Given the description of an element on the screen output the (x, y) to click on. 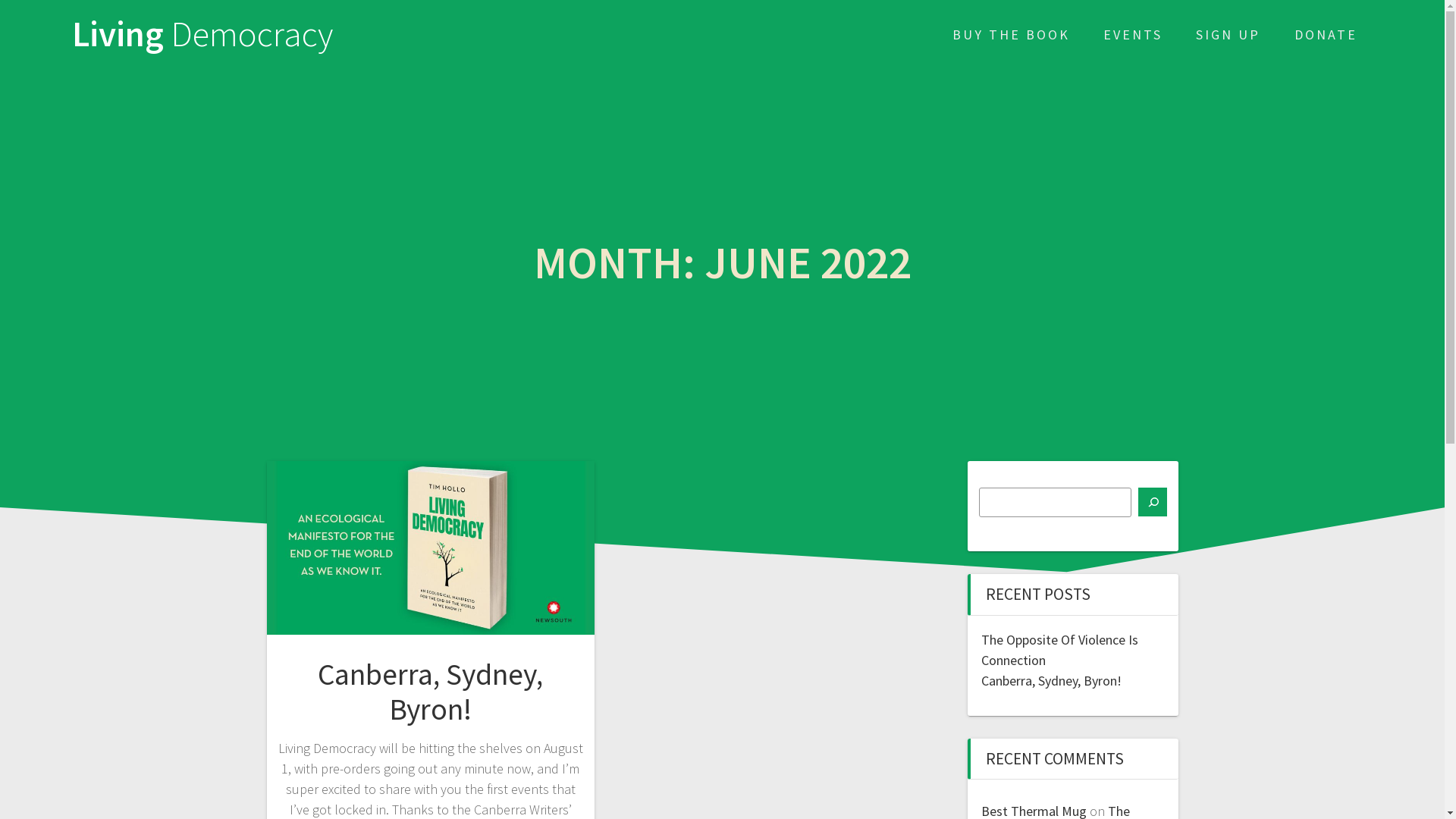
SIGN UP Element type: text (1227, 34)
BUY THE BOOK Element type: text (1011, 34)
EVENTS Element type: text (1132, 34)
Canberra, Sydney, Byron! Element type: text (1051, 680)
Living Democracy Element type: text (202, 34)
Canberra, Sydney, Byron! Element type: text (429, 691)
The Opposite Of Violence Is Connection Element type: text (1059, 649)
DONATE Element type: text (1325, 34)
